Given the description of an element on the screen output the (x, y) to click on. 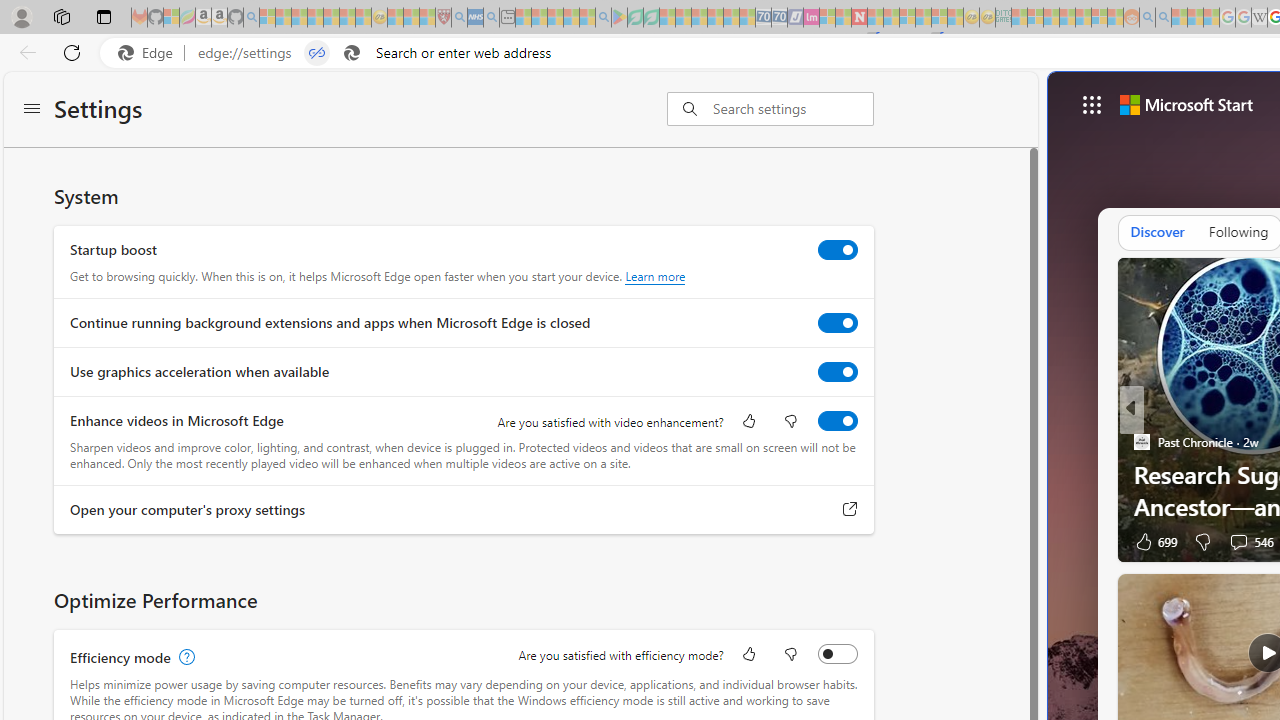
DITOGAMES AG Imprint - Sleeping (1003, 17)
MSNBC - MSN - Sleeping (1019, 17)
Jobs - lastminute.com Investor Portal - Sleeping (811, 17)
UnifyCosmos (1140, 473)
Like (748, 655)
Bluey: Let's Play! - Apps on Google Play - Sleeping (619, 17)
Cheap Hotels - Save70.com - Sleeping (779, 17)
Target page - Wikipedia - Sleeping (1259, 17)
